Given the description of an element on the screen output the (x, y) to click on. 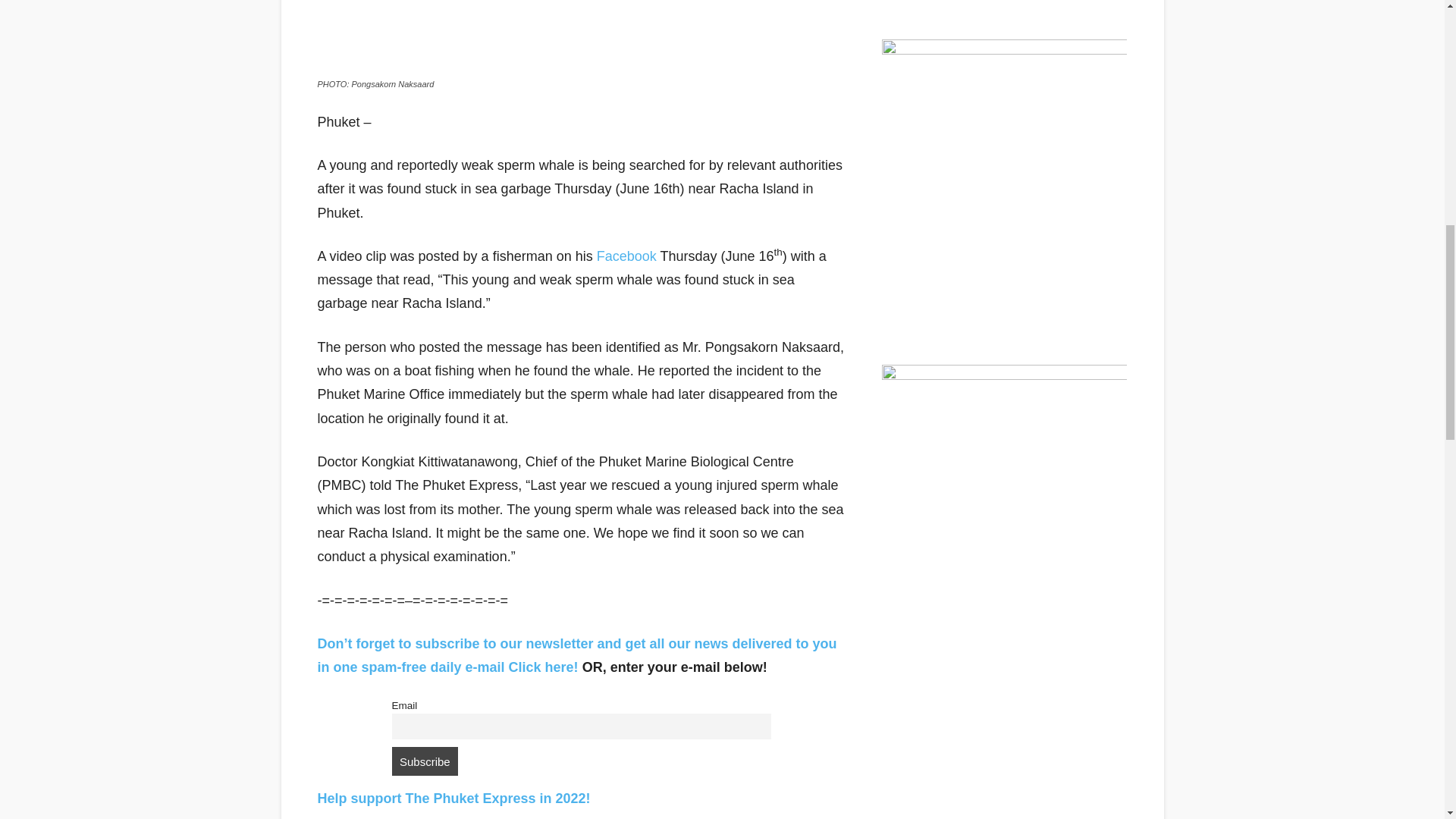
Subscribe (424, 760)
